Given the description of an element on the screen output the (x, y) to click on. 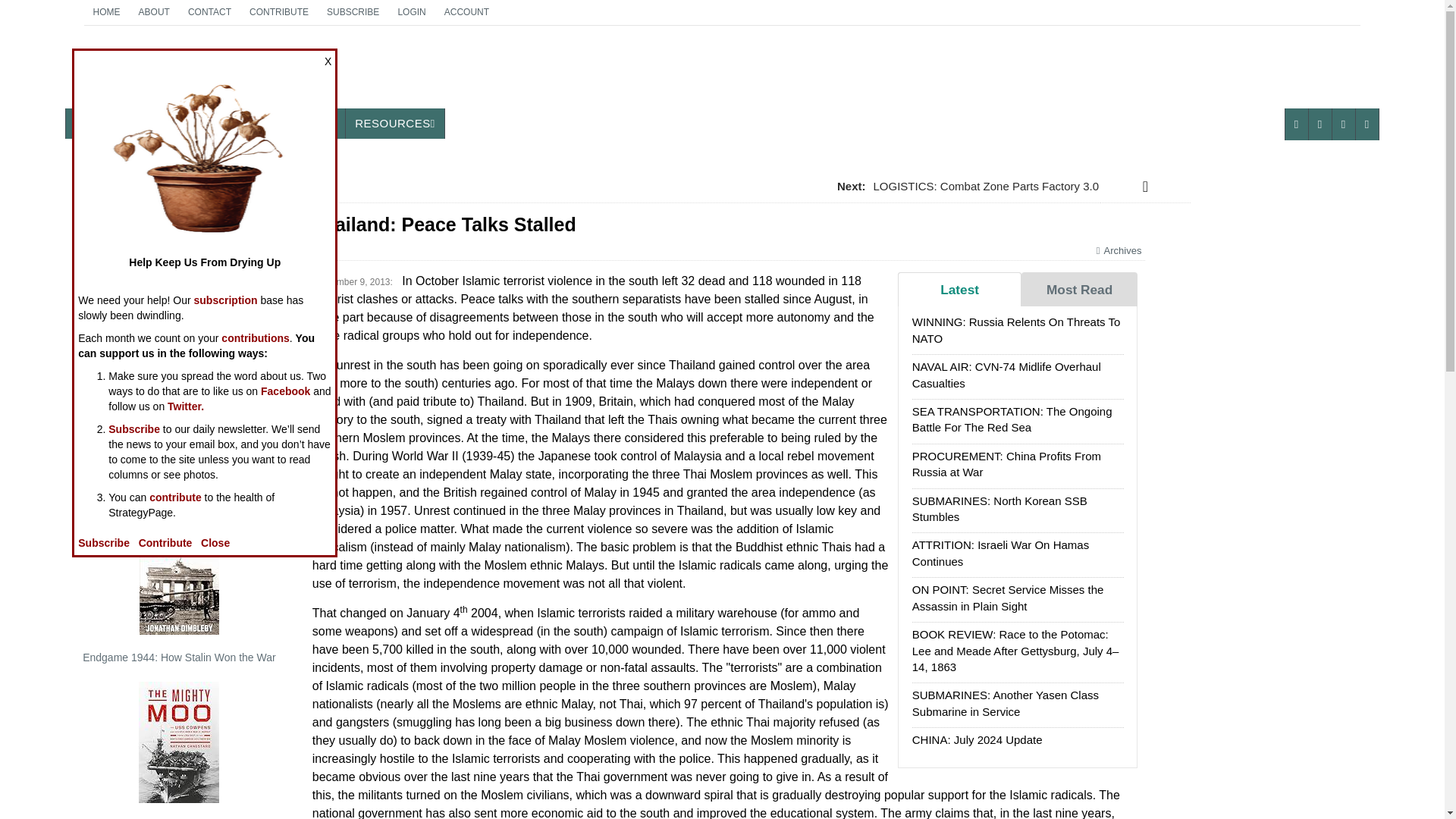
NEWS (181, 72)
OTHER (94, 123)
PHOTOS (313, 123)
RESOURCES (245, 123)
SUBSCRIBE (395, 123)
LOGIN (352, 12)
FEATURES (410, 12)
ACCOUNT (168, 123)
HOME (466, 12)
CONTRIBUTE (106, 12)
ABOUT (278, 12)
CONTACT (154, 12)
